Given the description of an element on the screen output the (x, y) to click on. 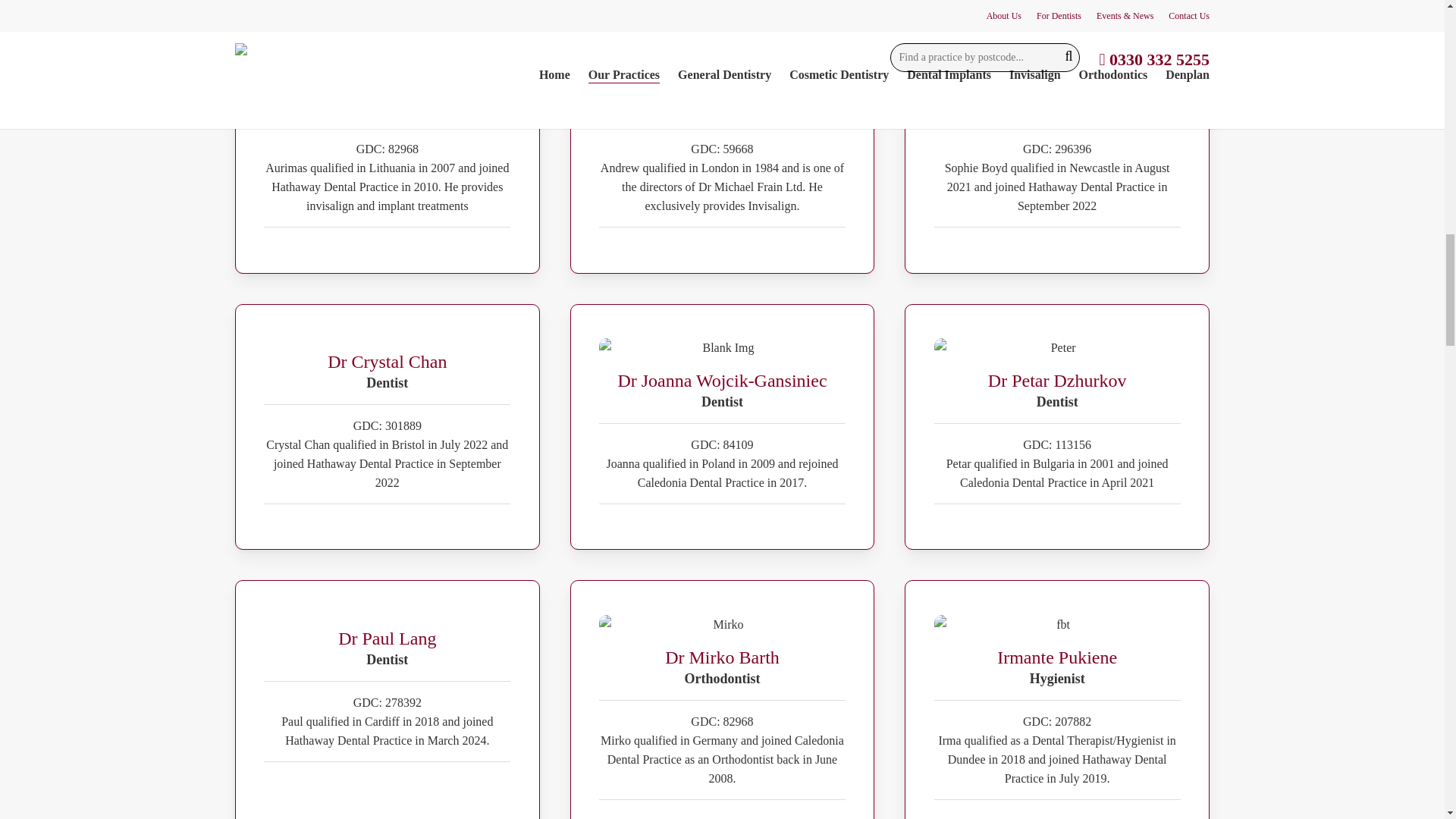
Dr Petar Dzhurkov (1057, 347)
Dr Mirko Barth (721, 624)
Dr Joanna Wojcik-Gansiniec (721, 347)
Irmante Pukiene (1057, 624)
